Given the description of an element on the screen output the (x, y) to click on. 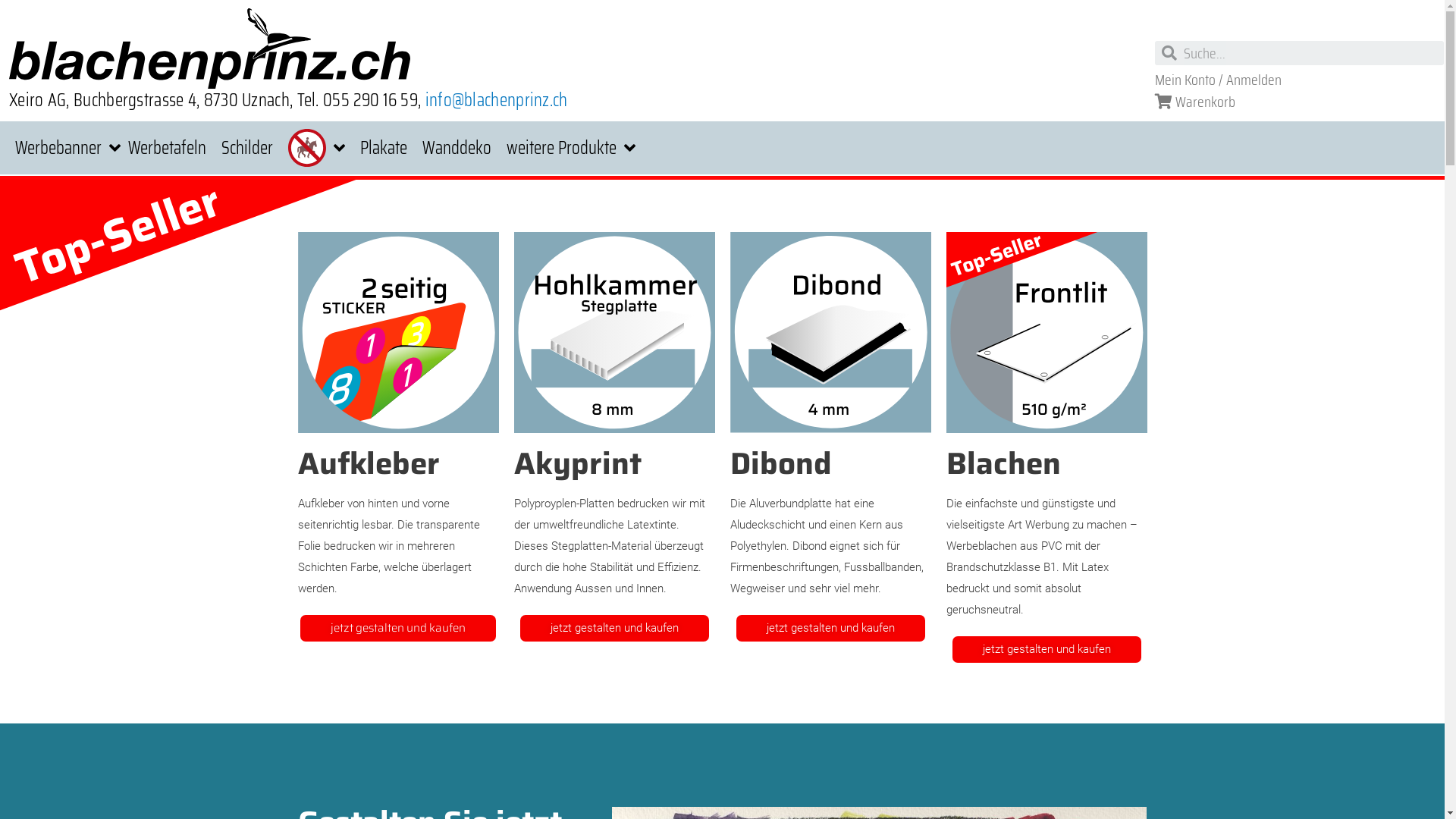
Warenkorb Element type: text (1194, 101)
jetzt gestalten und kaufen Element type: text (397, 628)
info@blachenprinz.ch Element type: text (496, 99)
Schilder Element type: text (246, 147)
Werbetafeln Element type: text (166, 147)
jetzt gestalten und kaufen Element type: text (614, 628)
weitere Produkte Element type: text (570, 147)
Mein Konto / Anmelden Element type: text (1217, 79)
jetzt gestalten und kaufen Element type: text (1046, 648)
Suche Element type: hover (1309, 52)
Plakate Element type: text (383, 147)
Wanddeko Element type: text (456, 147)
Werbebanner Element type: text (67, 147)
jetzt gestalten und kaufen Element type: text (829, 628)
